Given the description of an element on the screen output the (x, y) to click on. 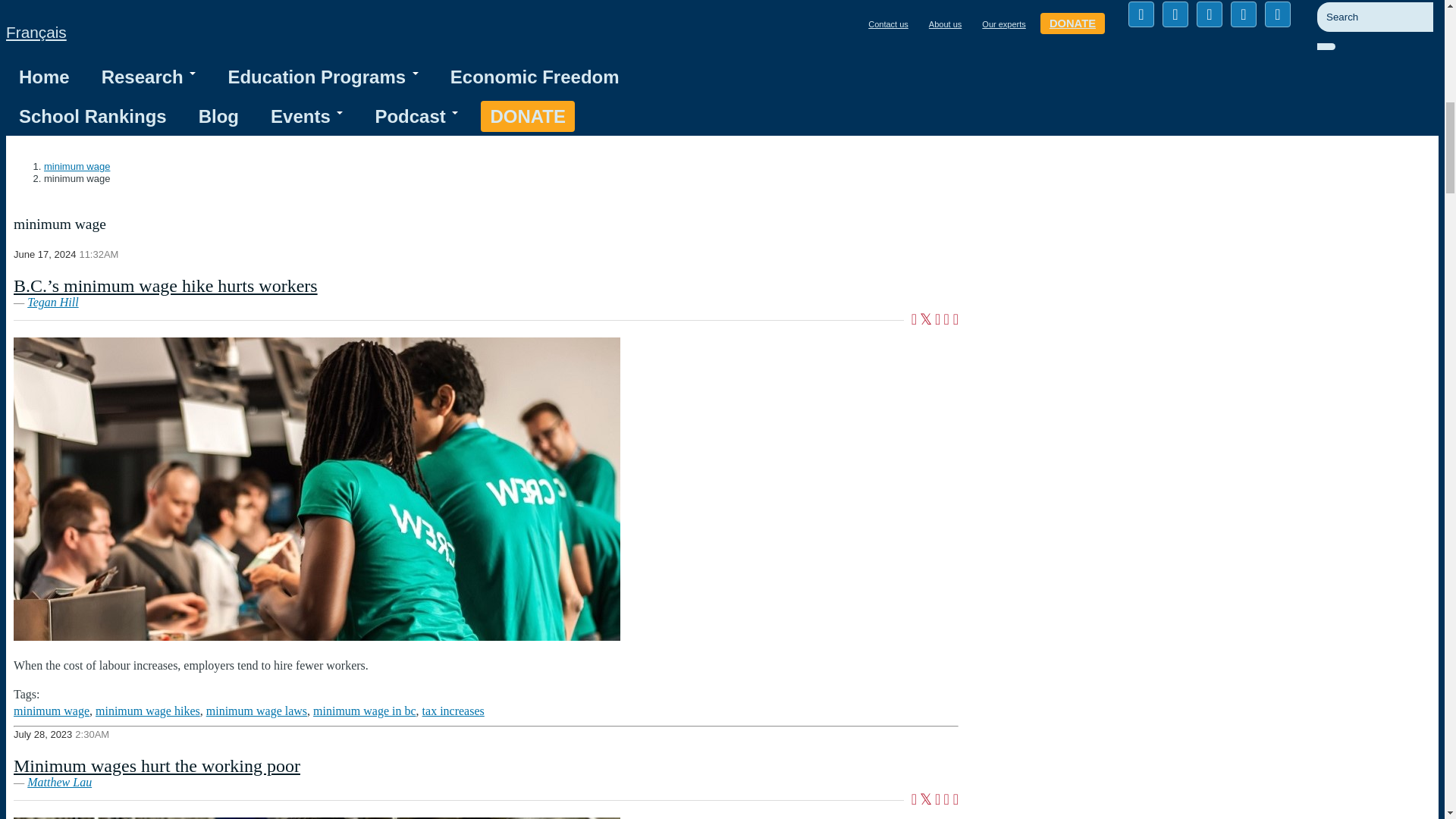
Research (149, 77)
Contact us (887, 23)
YouTube (1243, 14)
Facebook (1141, 14)
Our experts (1002, 23)
DONATE (1073, 23)
LinkedIn (1209, 14)
About us (945, 23)
Donate (527, 116)
Instagram (1277, 14)
Twitter (1174, 14)
Home (44, 77)
School Rankings (93, 116)
Search (1339, 53)
